Given the description of an element on the screen output the (x, y) to click on. 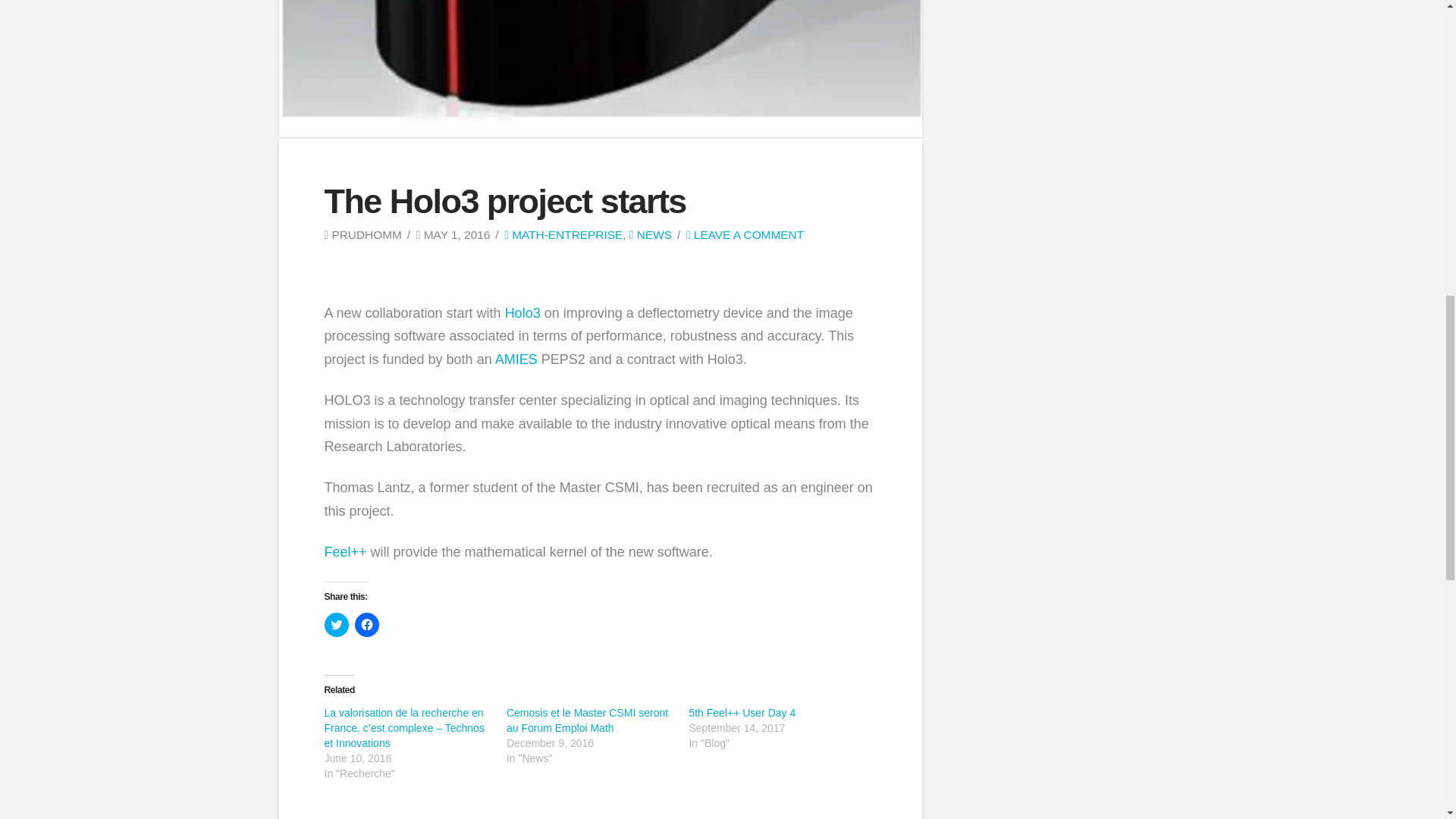
Click to share on Facebook (366, 624)
Cemosis et le Master CSMI seront au Forum Emploi Math (587, 719)
Click to share on Twitter (336, 624)
